Given the description of an element on the screen output the (x, y) to click on. 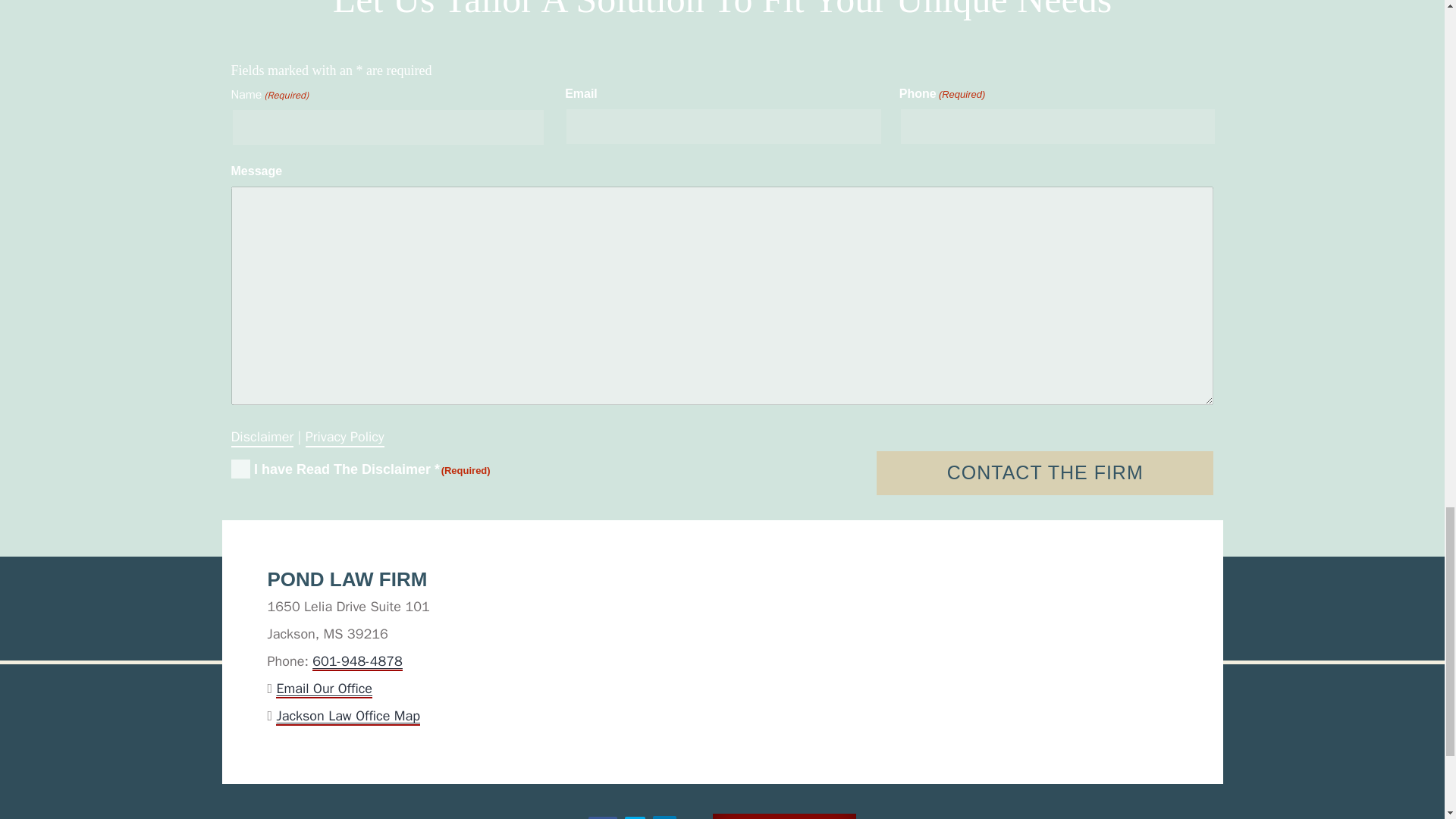
601-948-4878 (358, 660)
Email Our Office (324, 688)
Privacy Policy (344, 435)
CONTACT THE FIRM (1045, 473)
Jackson Law Office Map (348, 715)
CONTACT THE FIRM (1045, 473)
1 (239, 468)
Disclaimer (262, 435)
